Given the description of an element on the screen output the (x, y) to click on. 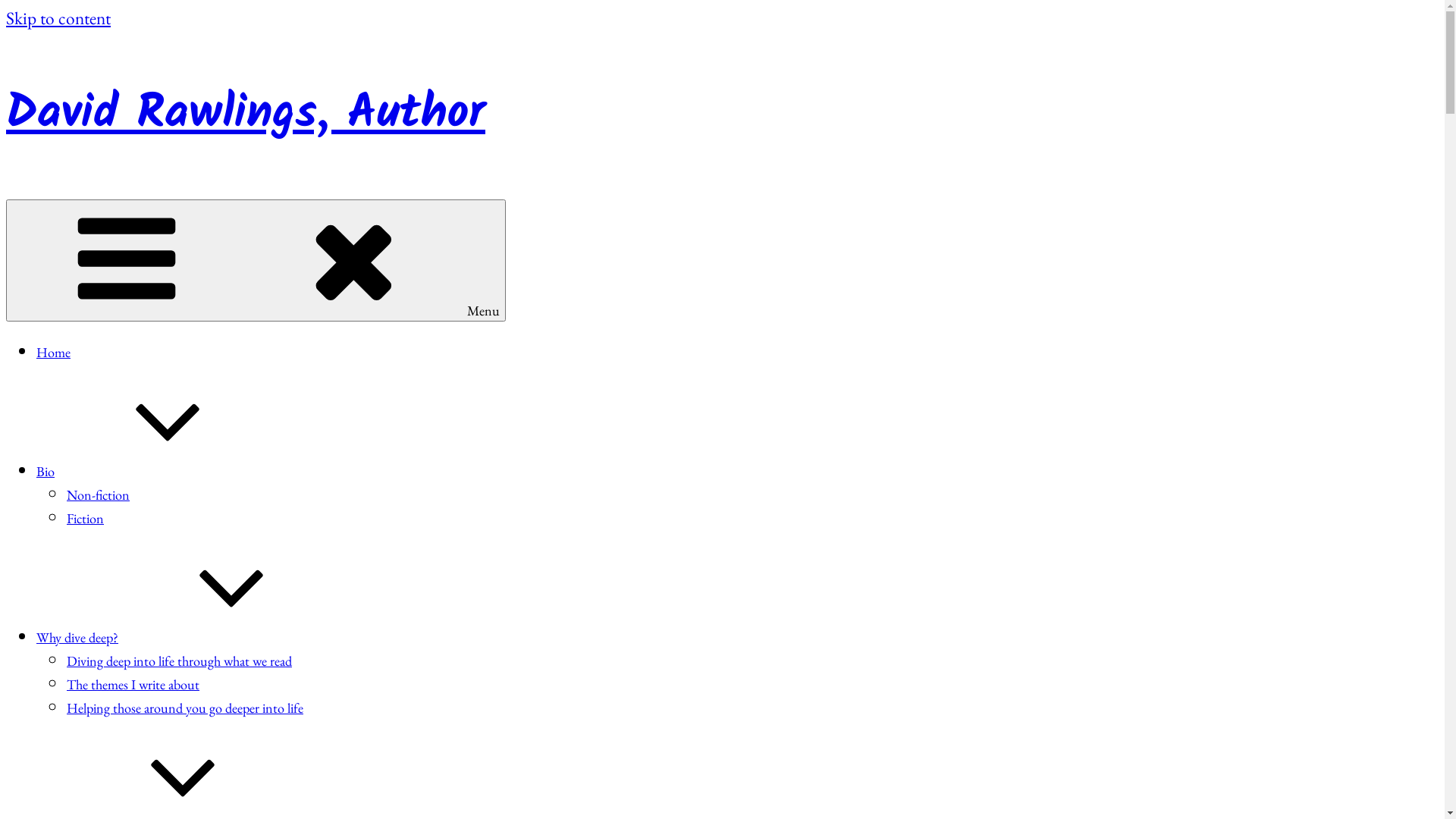
Non-fiction Element type: text (97, 494)
Bio Element type: text (159, 471)
Fiction Element type: text (84, 518)
Home Element type: text (53, 351)
The themes I write about Element type: text (132, 684)
Menu Element type: text (255, 260)
David Rawlings, Author Element type: text (245, 113)
Helping those around you go deeper into life Element type: text (184, 707)
Diving deep into life through what we read Element type: text (178, 660)
Why dive deep? Element type: text (190, 637)
Skip to content Element type: text (58, 17)
